Given the description of an element on the screen output the (x, y) to click on. 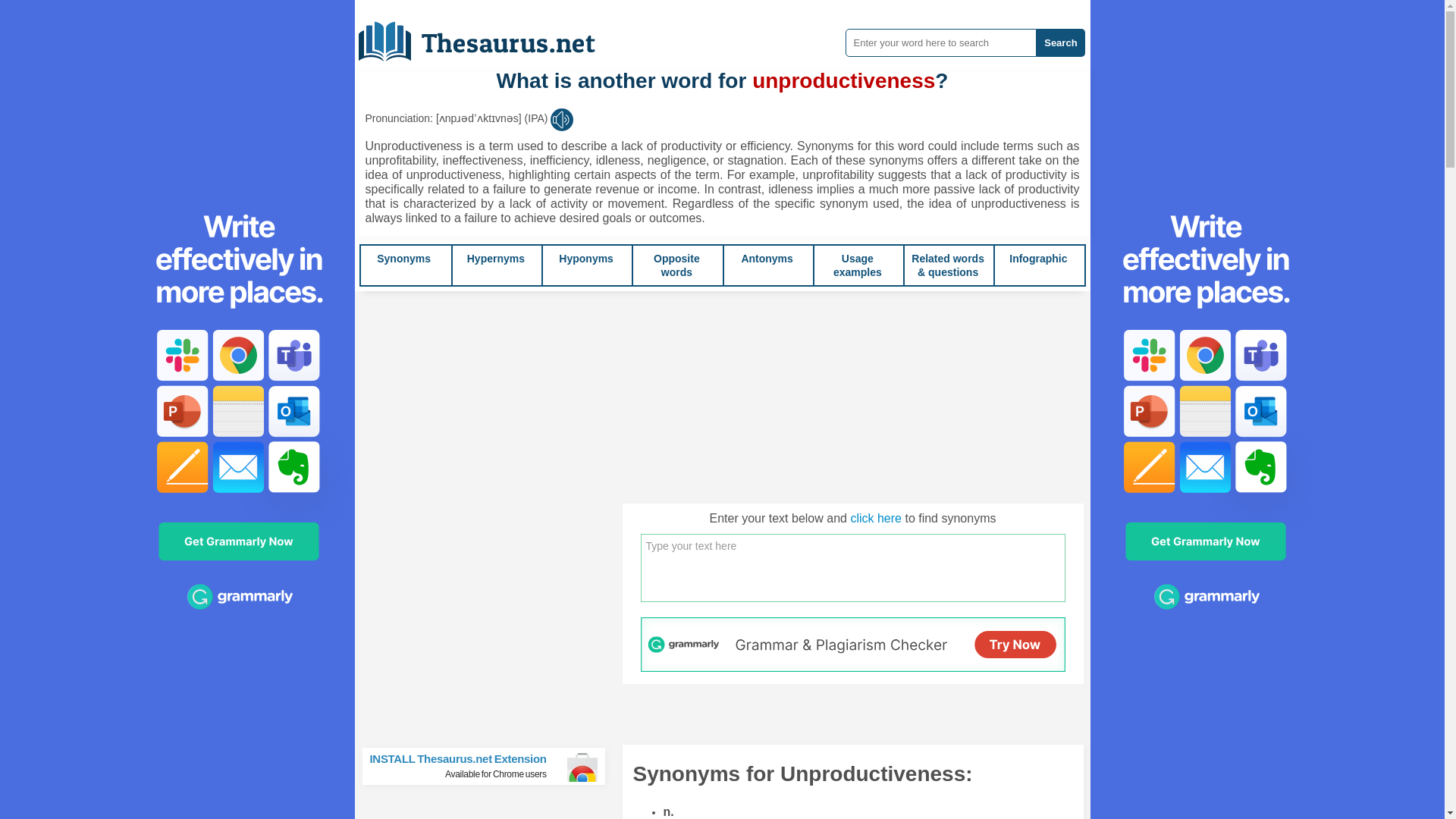
Usage examples (857, 265)
Antonyms (766, 258)
Infographic (1038, 258)
click here (875, 517)
Usage examples (857, 265)
Opposite words (676, 265)
Synonyms (403, 258)
Hypernyms (489, 765)
Infographic (495, 258)
Hypernyms (1038, 258)
Hyponyms (495, 258)
Antonyms (585, 258)
Opposite words (766, 258)
Thesaurus.net (676, 265)
